Given the description of an element on the screen output the (x, y) to click on. 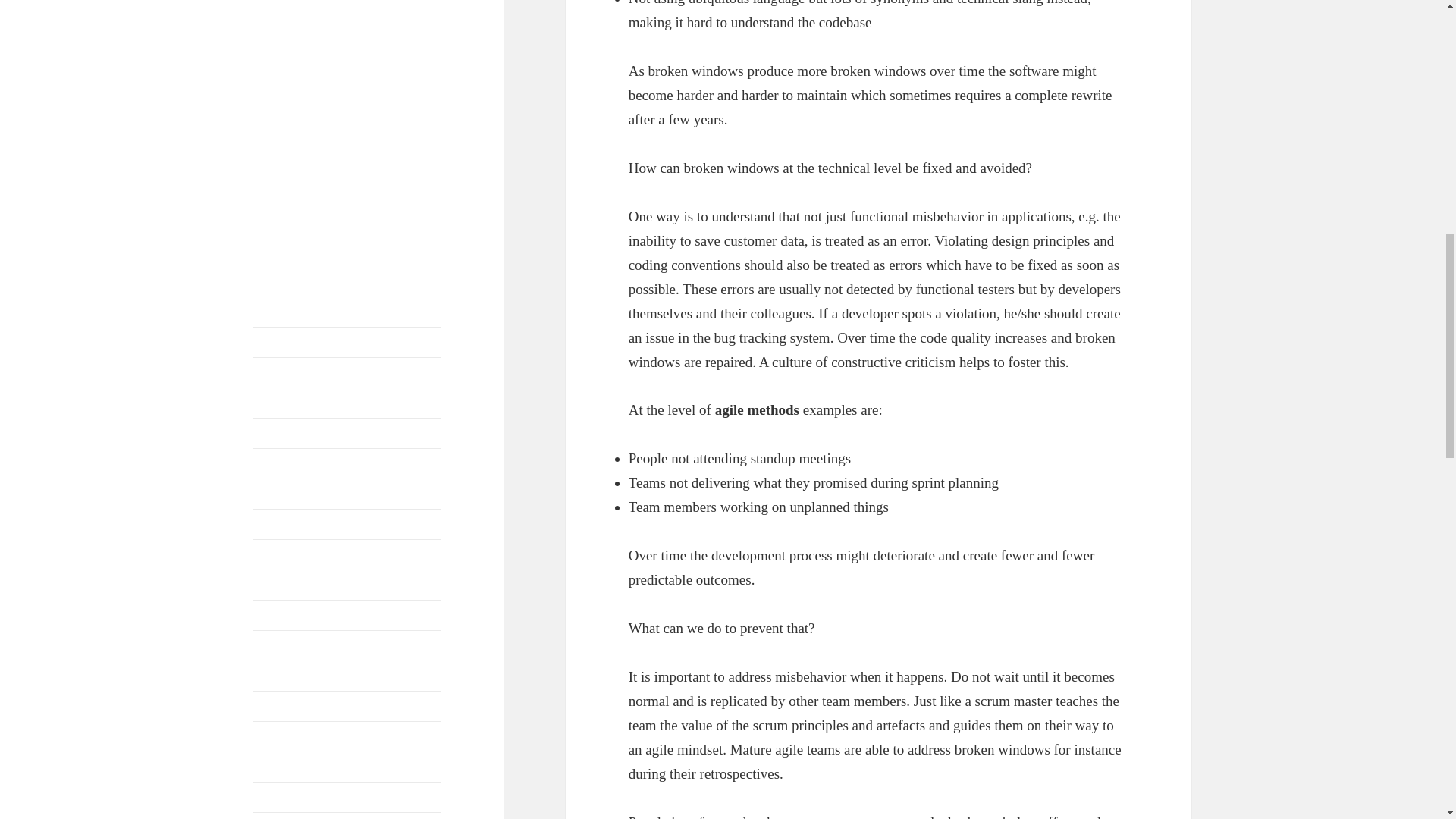
Rules (261, 141)
BPEL (420, 1)
Java (267, 88)
Hadoop (319, 66)
OSGi (355, 111)
BPM (271, 16)
Big Data (277, 1)
Docker (264, 43)
Domain Driven Design (320, 43)
ESB (408, 41)
Biztalk (375, 2)
Microservices (309, 111)
JavaScript (317, 89)
CSW (420, 19)
BiPRO (327, 1)
